Given the description of an element on the screen output the (x, y) to click on. 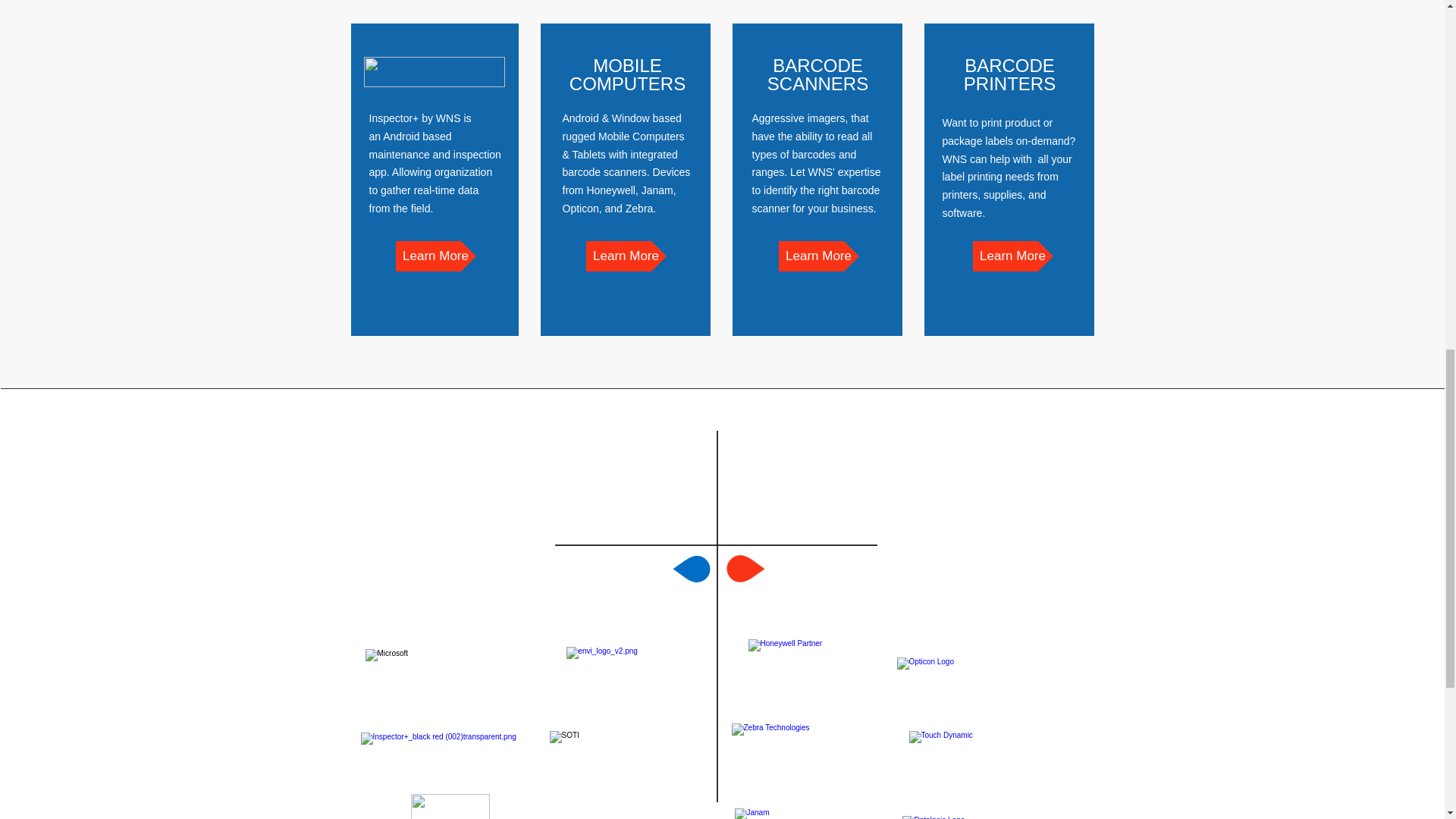
42Gears- Logo without Boundary.png (449, 806)
Learn More (625, 255)
Learn More (1012, 255)
Learn More (436, 255)
Learn More (818, 255)
